Given the description of an element on the screen output the (x, y) to click on. 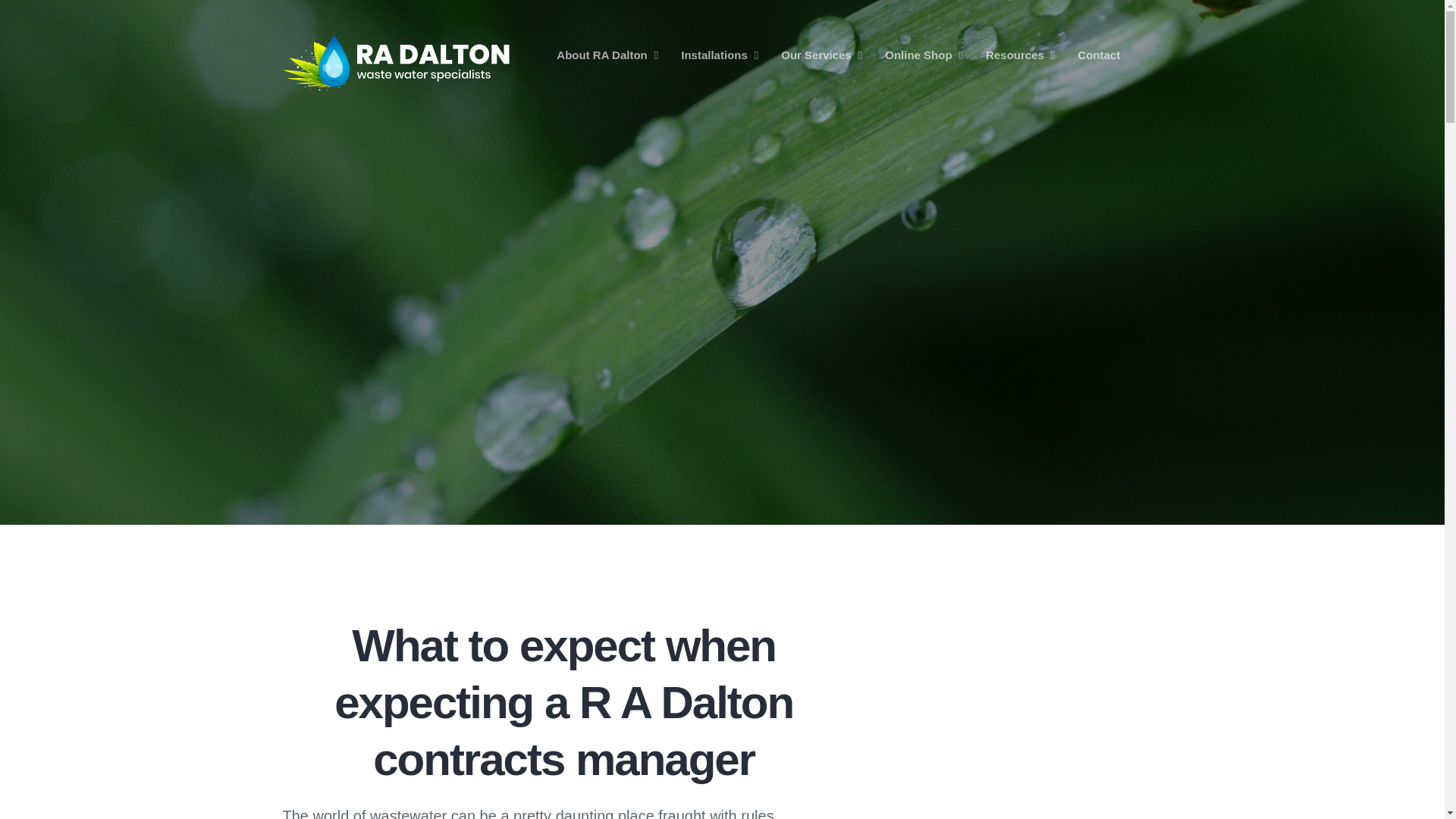
About RA Dalton (607, 54)
Our Services (820, 54)
Online Shop (923, 54)
